Given the description of an element on the screen output the (x, y) to click on. 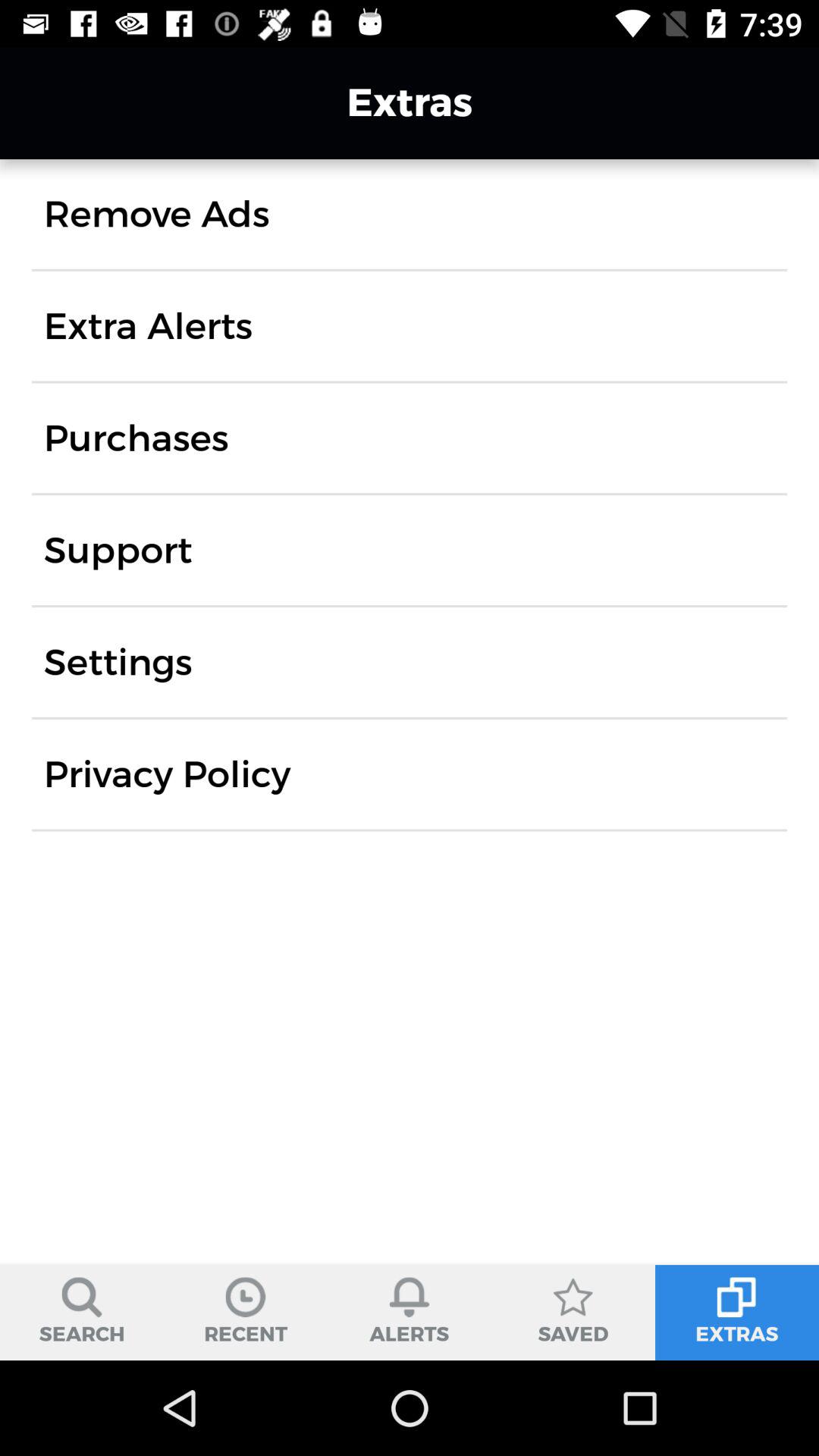
turn on the remove ads (156, 214)
